Given the description of an element on the screen output the (x, y) to click on. 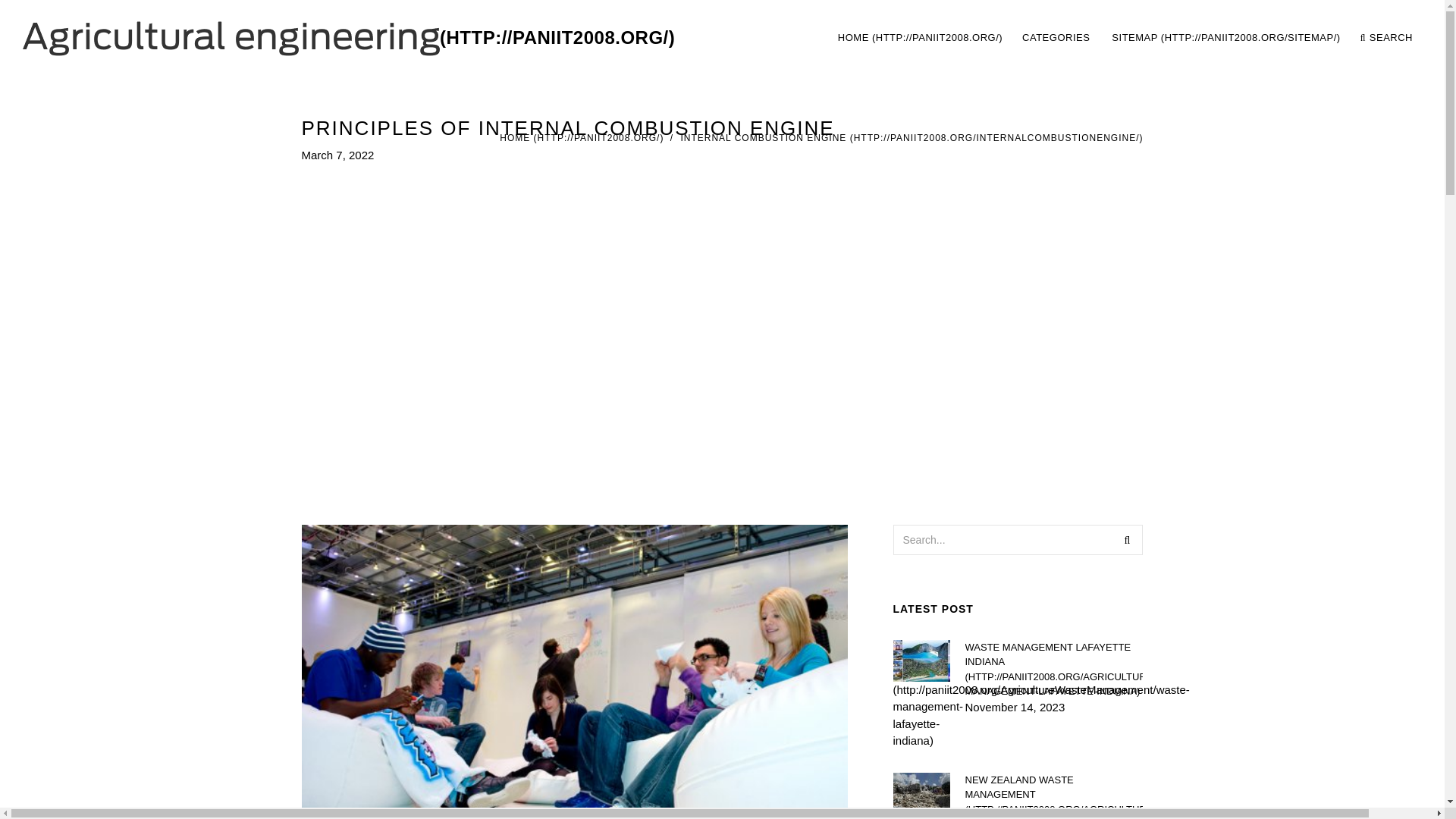
NEW ZEALAND WASTE MANAGEMENT (1052, 795)
Agricultural engineering (349, 38)
SITEMAP (1225, 38)
HOME (919, 38)
HOME (1124, 38)
Search (581, 137)
WASTE MANAGEMENT LAFAYETTE INDIANA (1126, 539)
CATEGORIES (1052, 669)
INTERNAL COMBUSTION ENGINE (1056, 38)
SEARCH (910, 137)
